Given the description of an element on the screen output the (x, y) to click on. 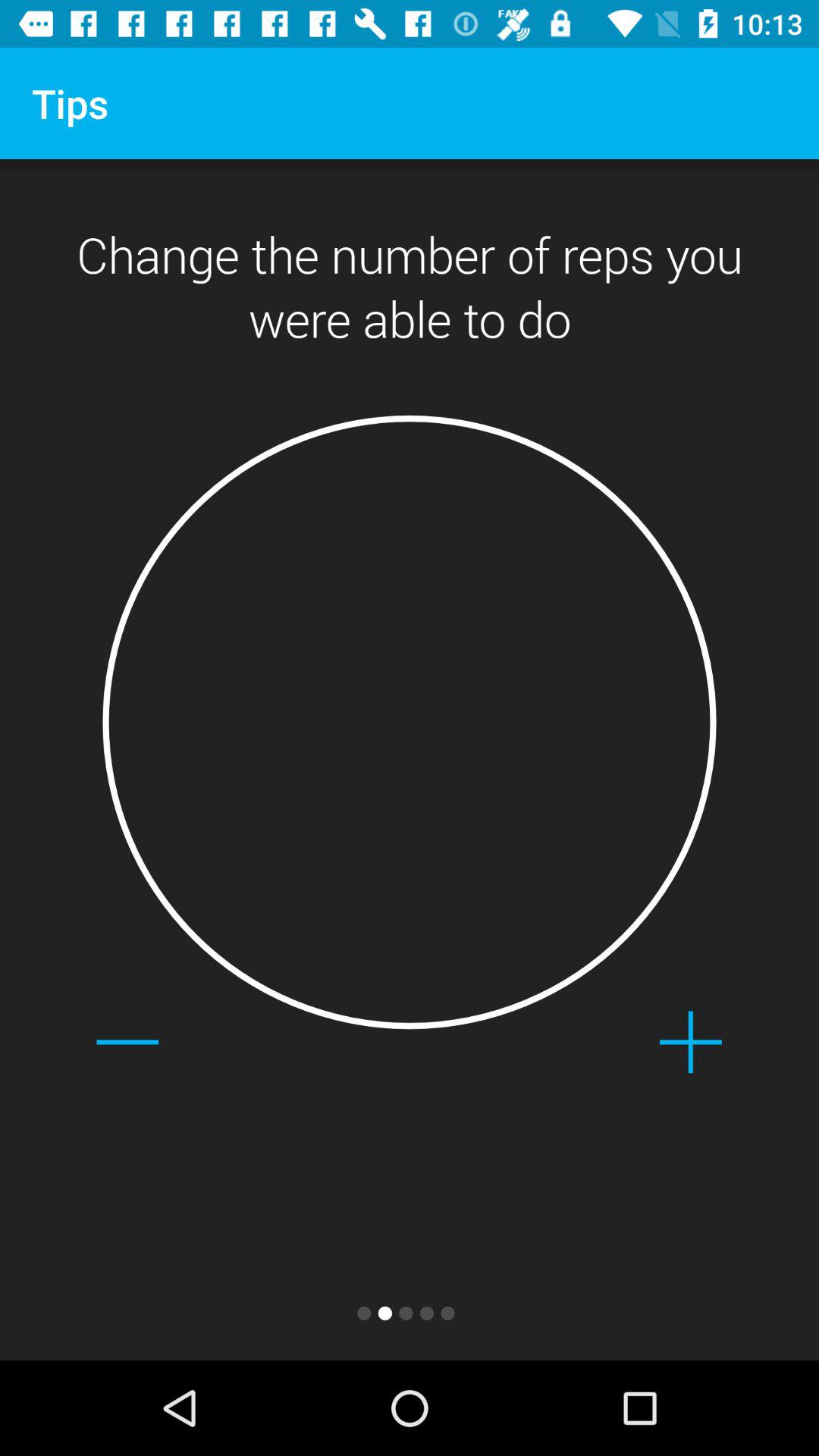
tap the item below the change the number item (409, 722)
